Given the description of an element on the screen output the (x, y) to click on. 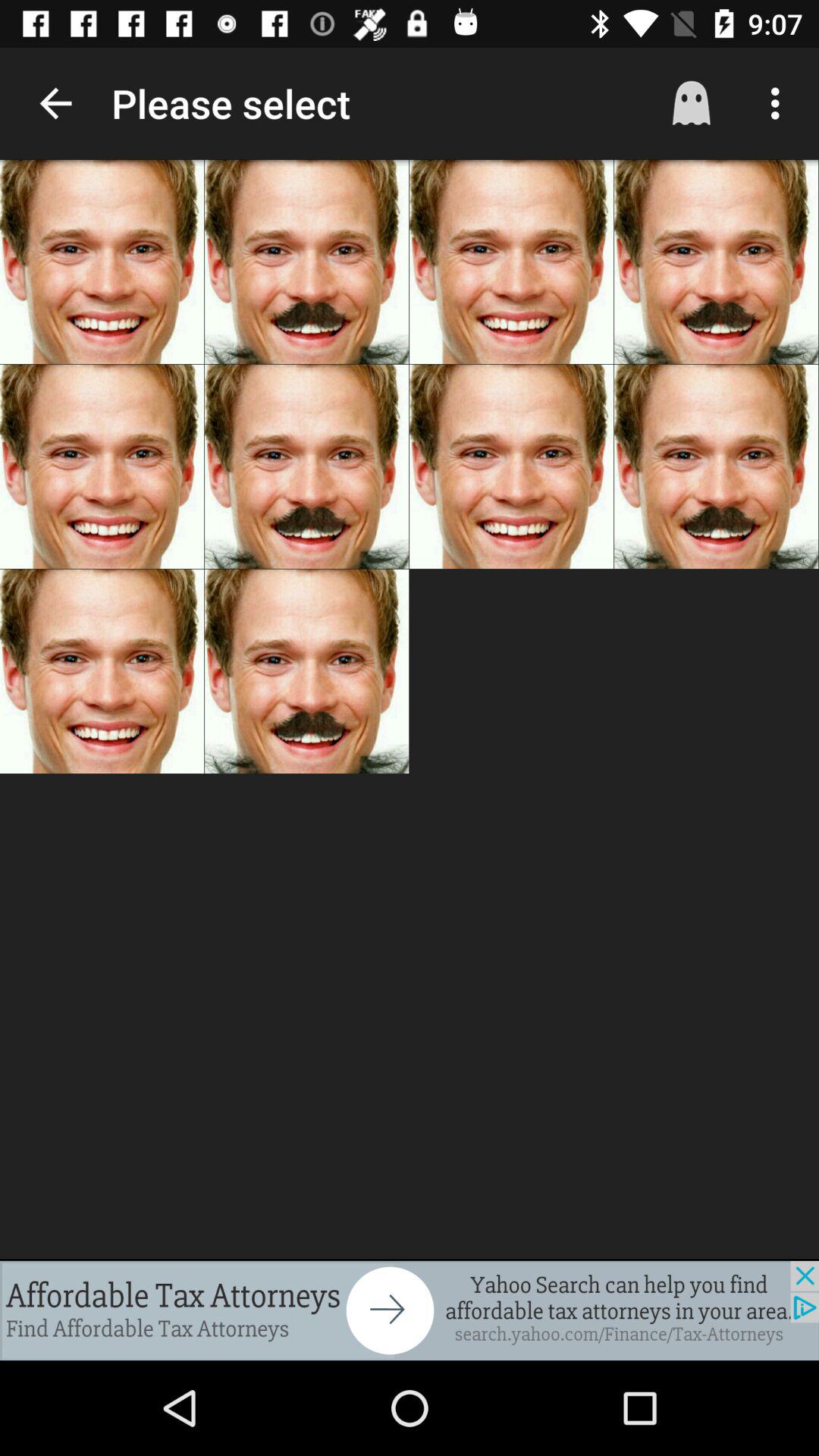
select menu button (779, 103)
select the last image (306, 671)
select the menu button (771, 103)
click on second row third image (511, 467)
click on the sixth image (306, 467)
